Given the description of an element on the screen output the (x, y) to click on. 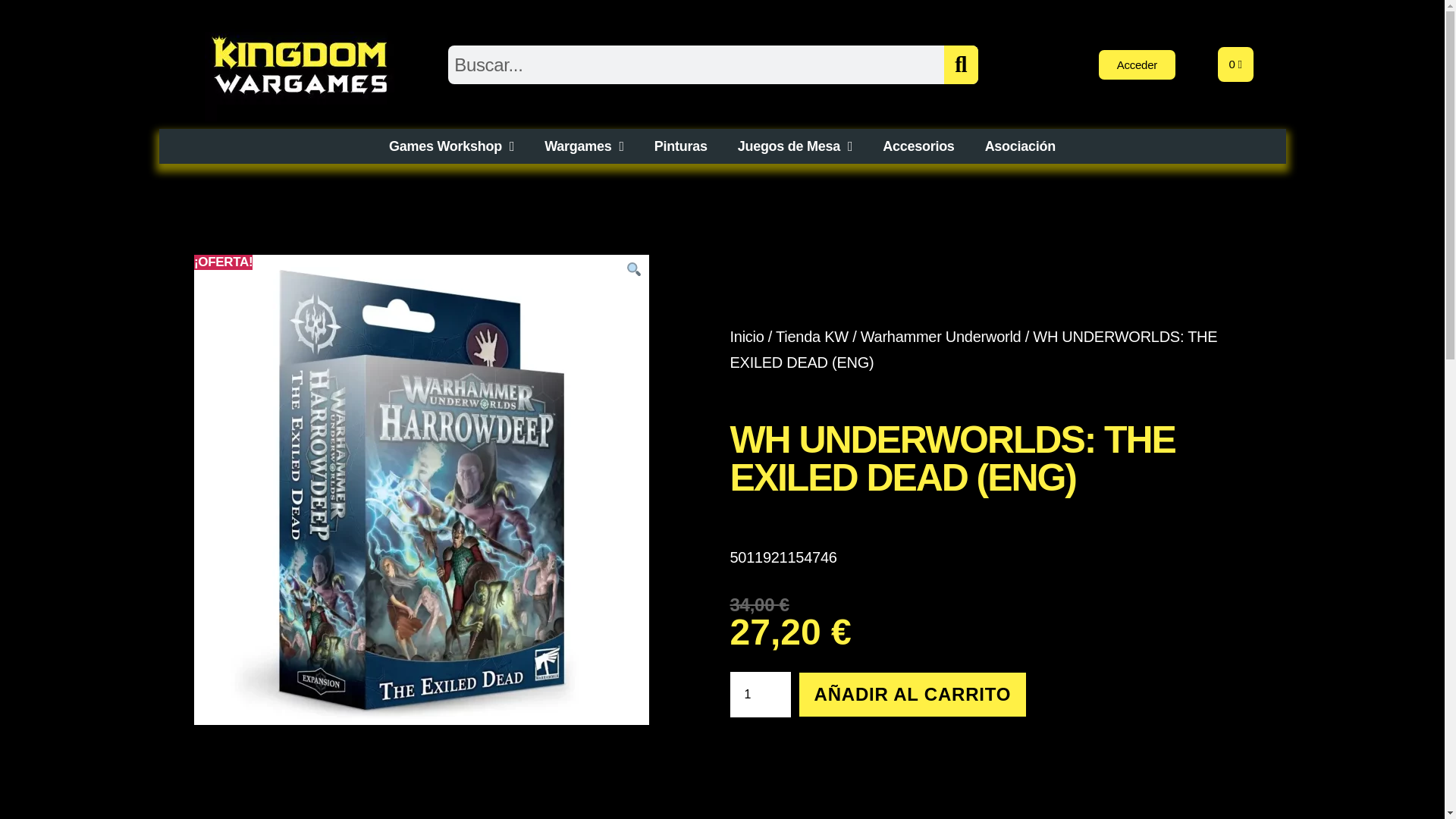
Games Workshop (451, 145)
Wargames (584, 145)
Juegos de Mesa (794, 145)
Accesorios (918, 145)
Pinturas (680, 145)
Acceder (1136, 63)
0 (1235, 63)
1 (759, 694)
